Given the description of an element on the screen output the (x, y) to click on. 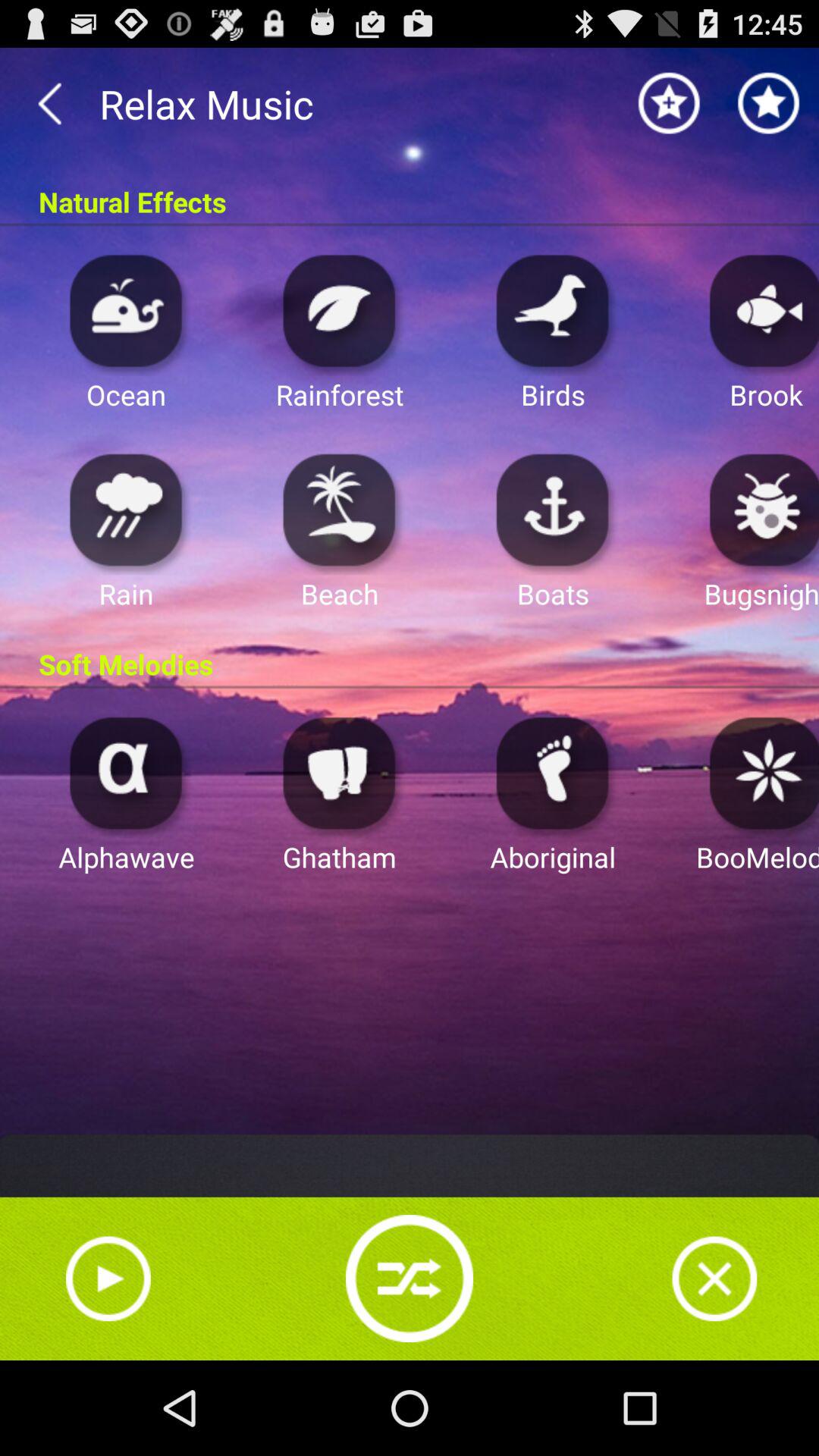
select the relax music icon (409, 103)
